Given the description of an element on the screen output the (x, y) to click on. 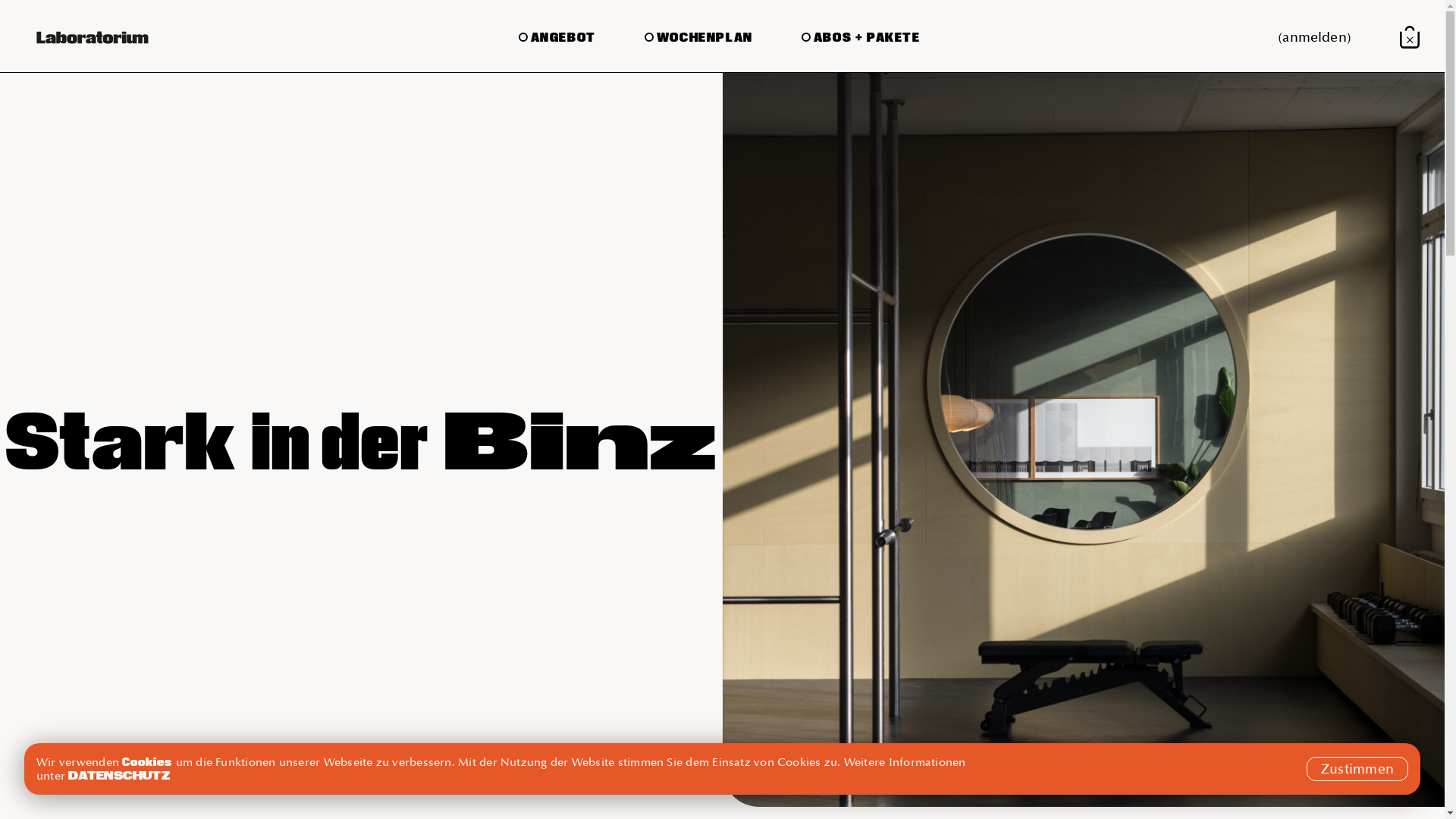
DATENSCHUTZ Element type: text (118, 775)
WOCHENPLAN Element type: text (698, 36)
Zustimmen Element type: text (1357, 768)
(anmelden) Element type: text (1314, 37)
ABOS + PAKETE Element type: text (860, 36)
ANGEBOT Element type: text (557, 36)
